Given the description of an element on the screen output the (x, y) to click on. 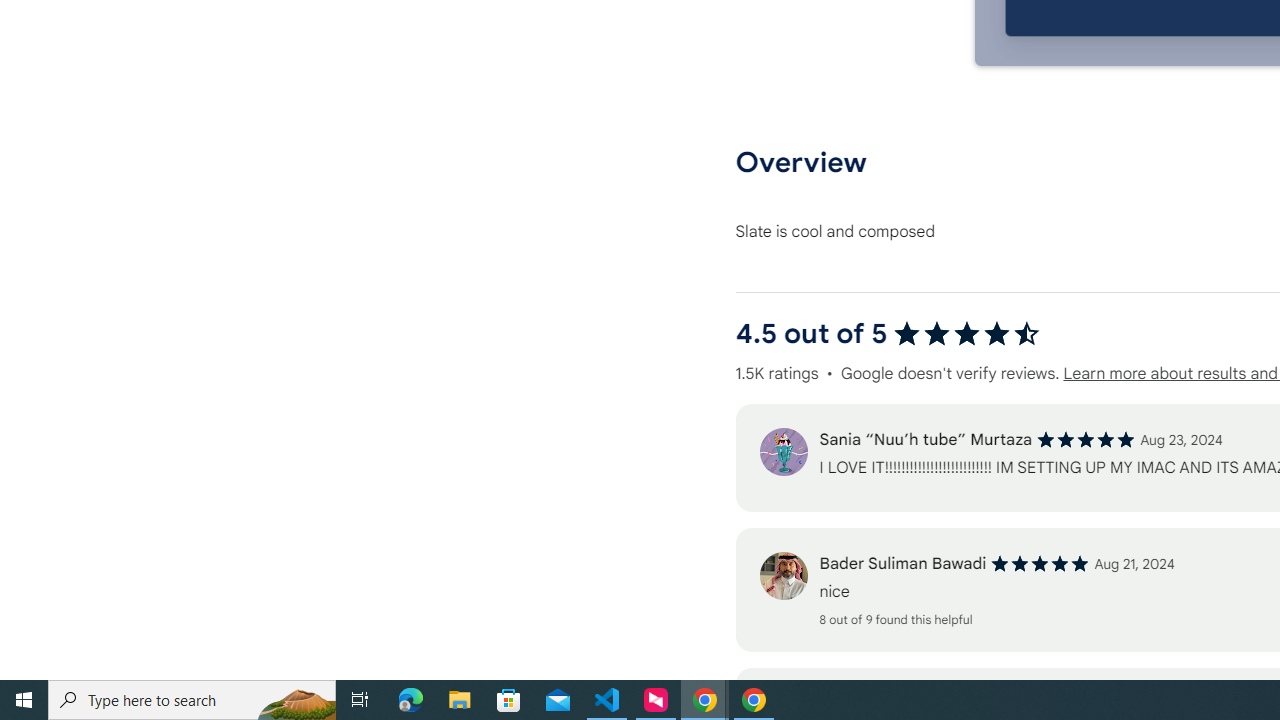
4.5 out of 5 stars (965, 334)
Review's profile picture (783, 576)
5 out of 5 stars (1039, 564)
